Given the description of an element on the screen output the (x, y) to click on. 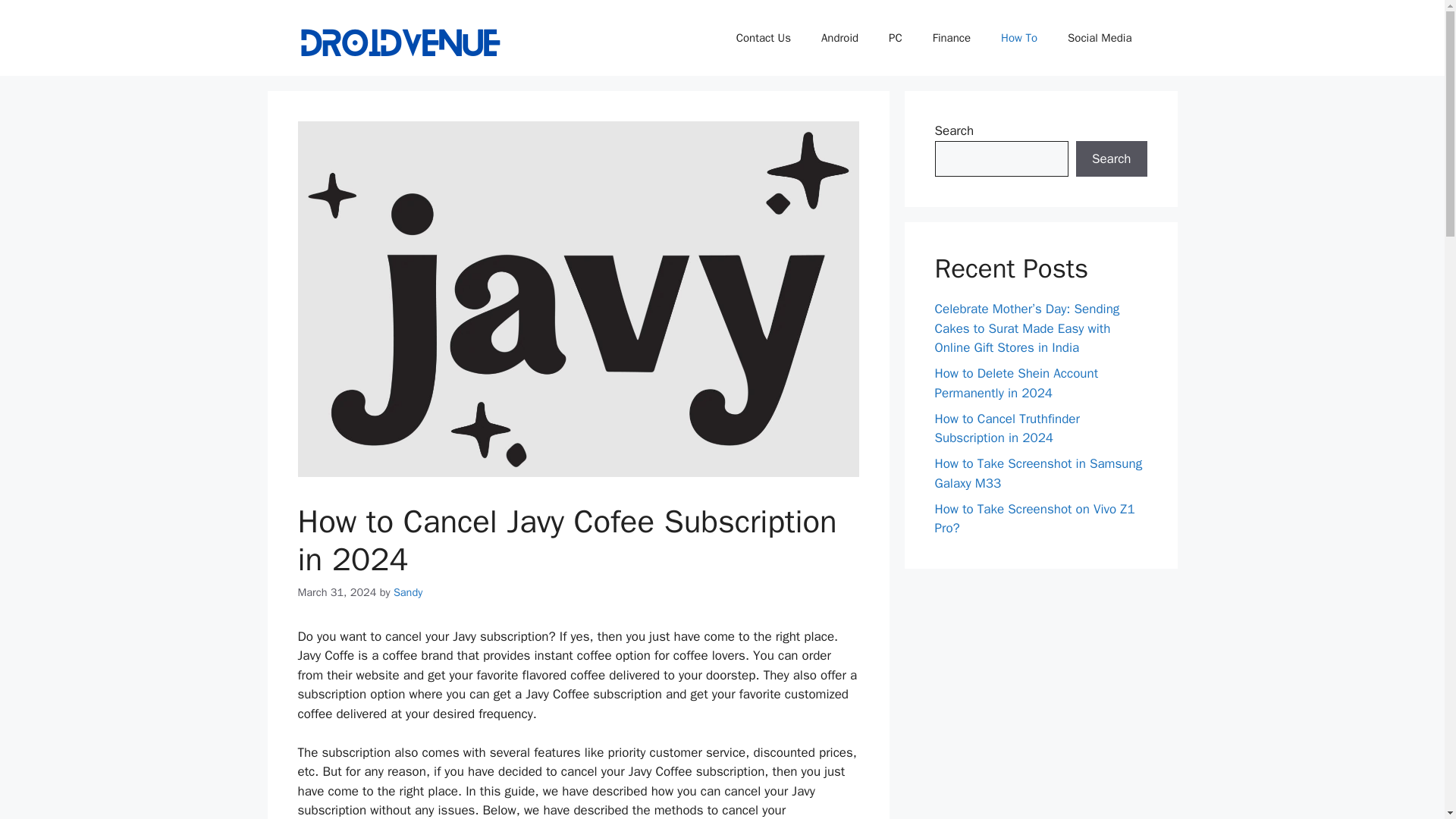
How to Delete Shein Account Permanently in 2024 (1015, 383)
PC (895, 37)
Android (839, 37)
Contact Us (763, 37)
How to Cancel Truthfinder Subscription in 2024 (1006, 428)
View all posts by Sandy (407, 591)
Finance (951, 37)
How to Take Screenshot on Vivo Z1 Pro? (1034, 518)
Sandy (407, 591)
Search (1111, 158)
How To (1018, 37)
Social Media (1099, 37)
How to Take Screenshot in Samsung Galaxy M33 (1037, 473)
